Given the description of an element on the screen output the (x, y) to click on. 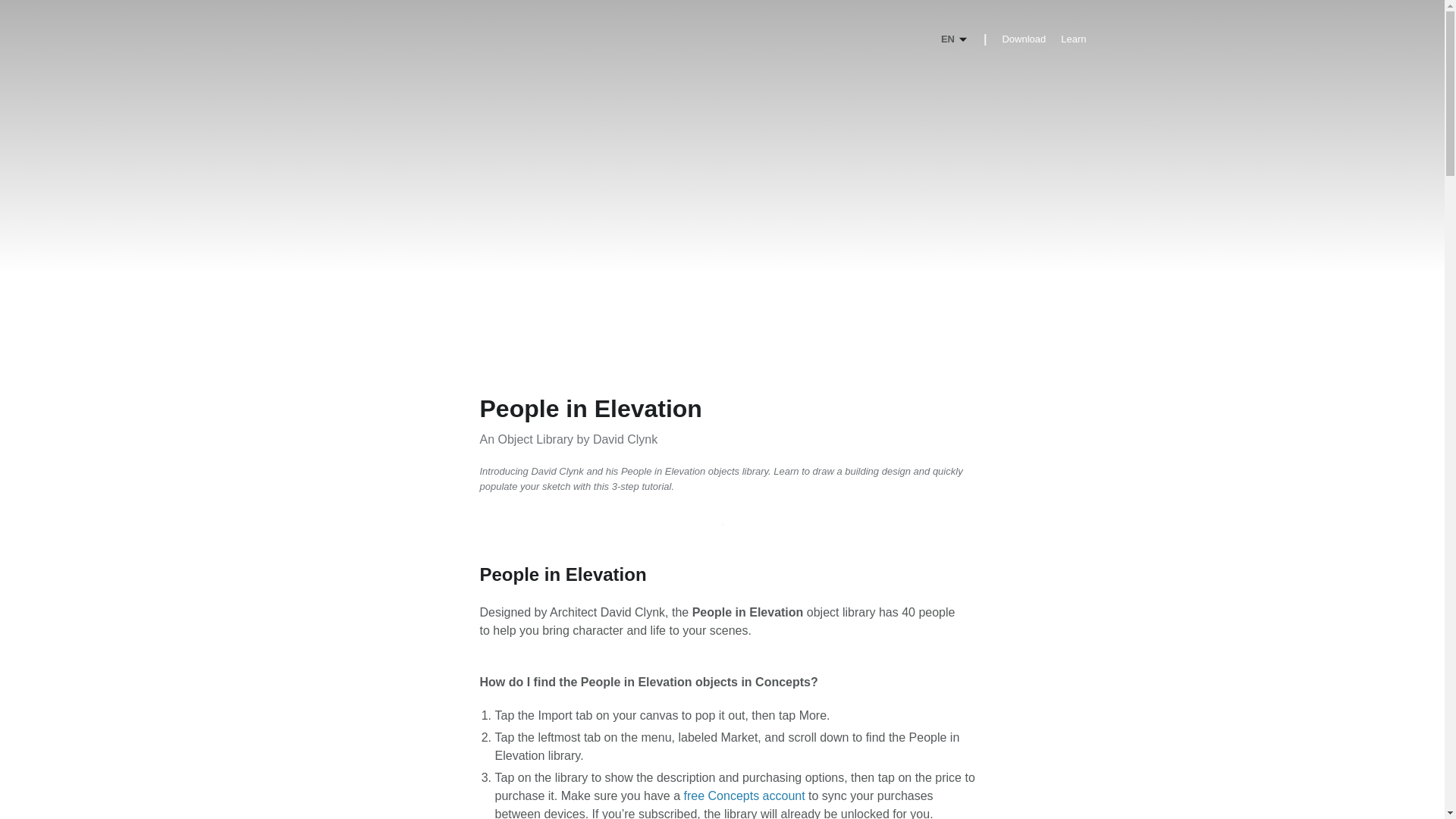
Learn (1073, 38)
Download (1023, 38)
free Concepts account (744, 795)
